Given the description of an element on the screen output the (x, y) to click on. 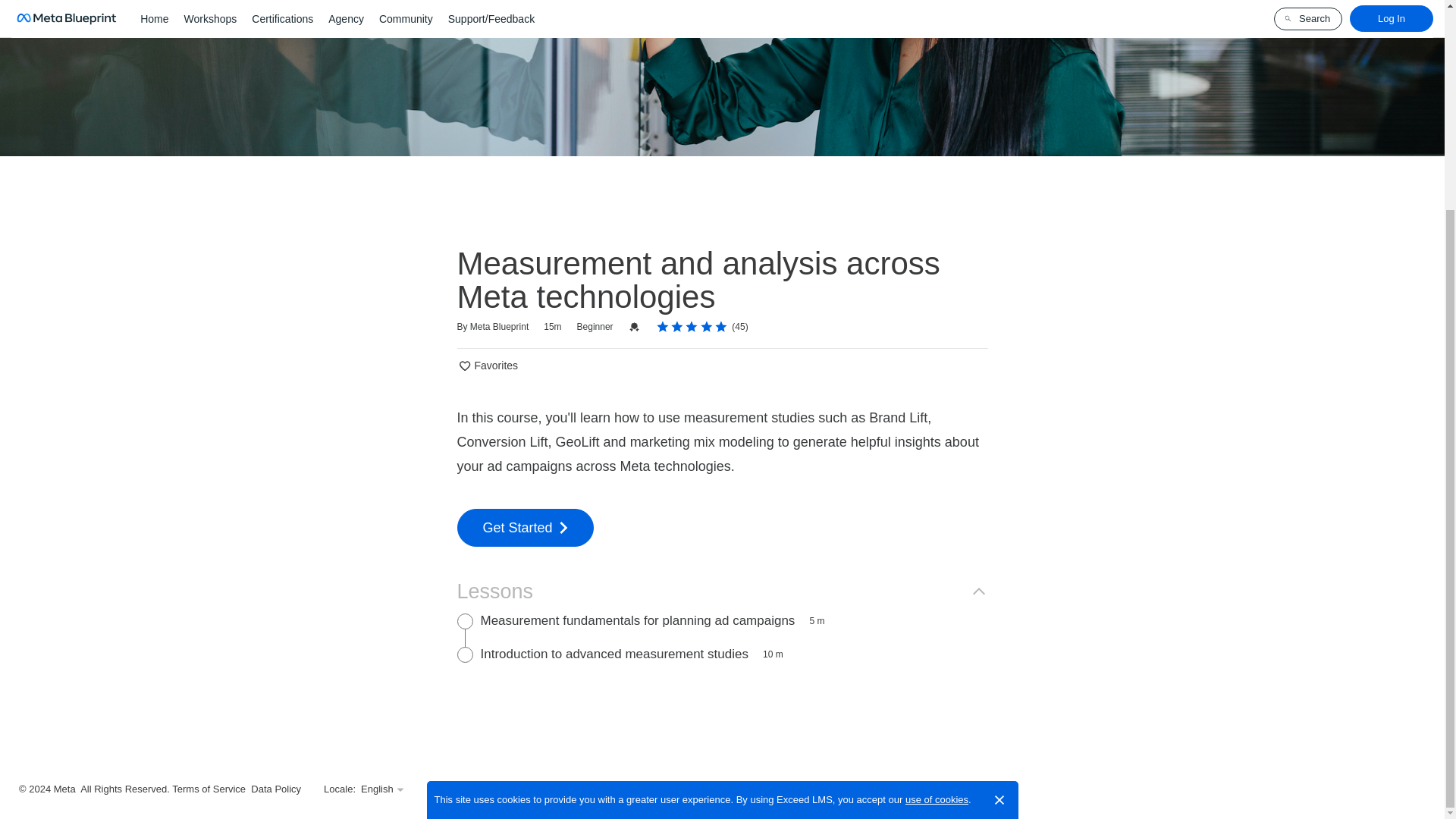
Introduction to advanced measurement studies 10 m (722, 656)
Get Started (524, 527)
Favorites (487, 365)
Data Policy (275, 788)
Lessons (721, 591)
Measurement fundamentals for planning ad campaigns 5 m (722, 622)
Powered by: (485, 788)
use of cookies (936, 526)
Intellum (515, 789)
